Given the description of an element on the screen output the (x, y) to click on. 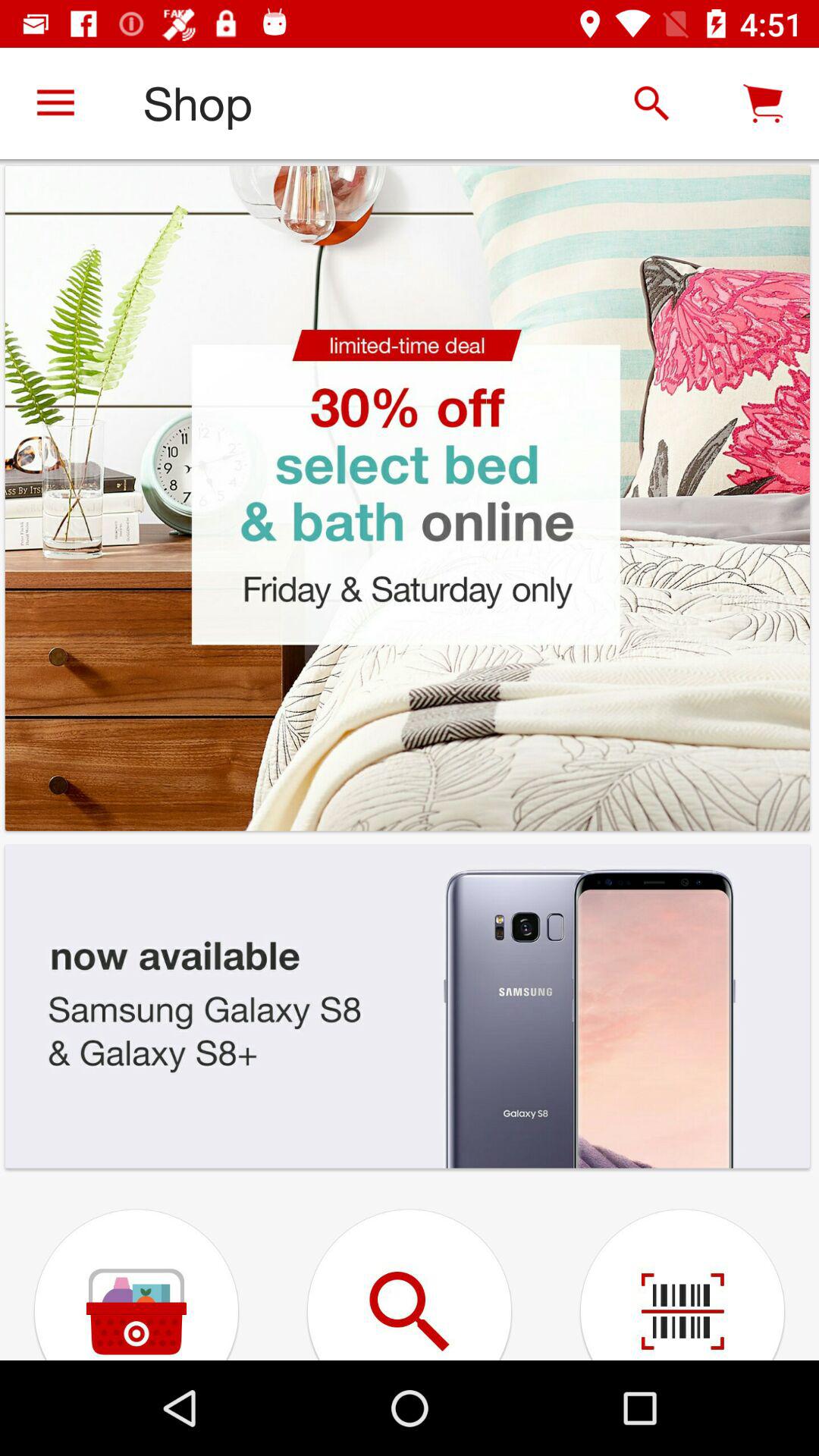
tap icon to the left of shop icon (55, 103)
